Given the description of an element on the screen output the (x, y) to click on. 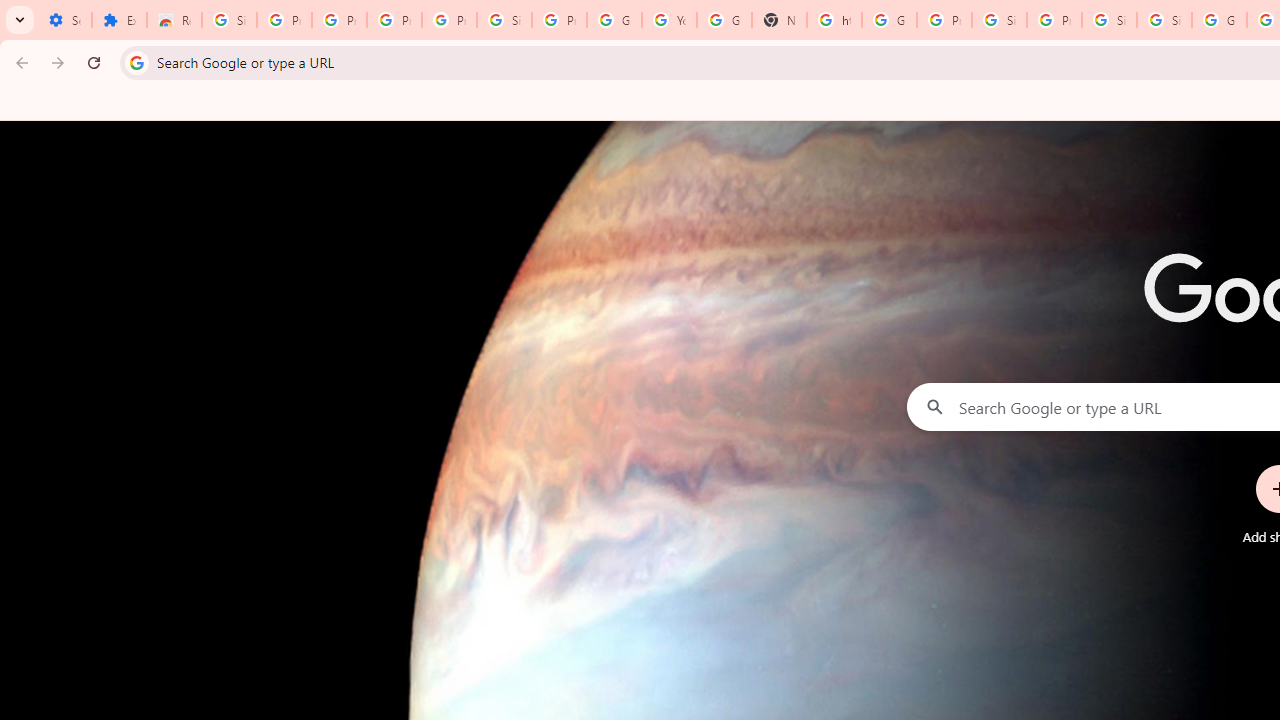
YouTube (669, 20)
Sign in - Google Accounts (504, 20)
Sign in - Google Accounts (1108, 20)
Sign in - Google Accounts (1163, 20)
